Given the description of an element on the screen output the (x, y) to click on. 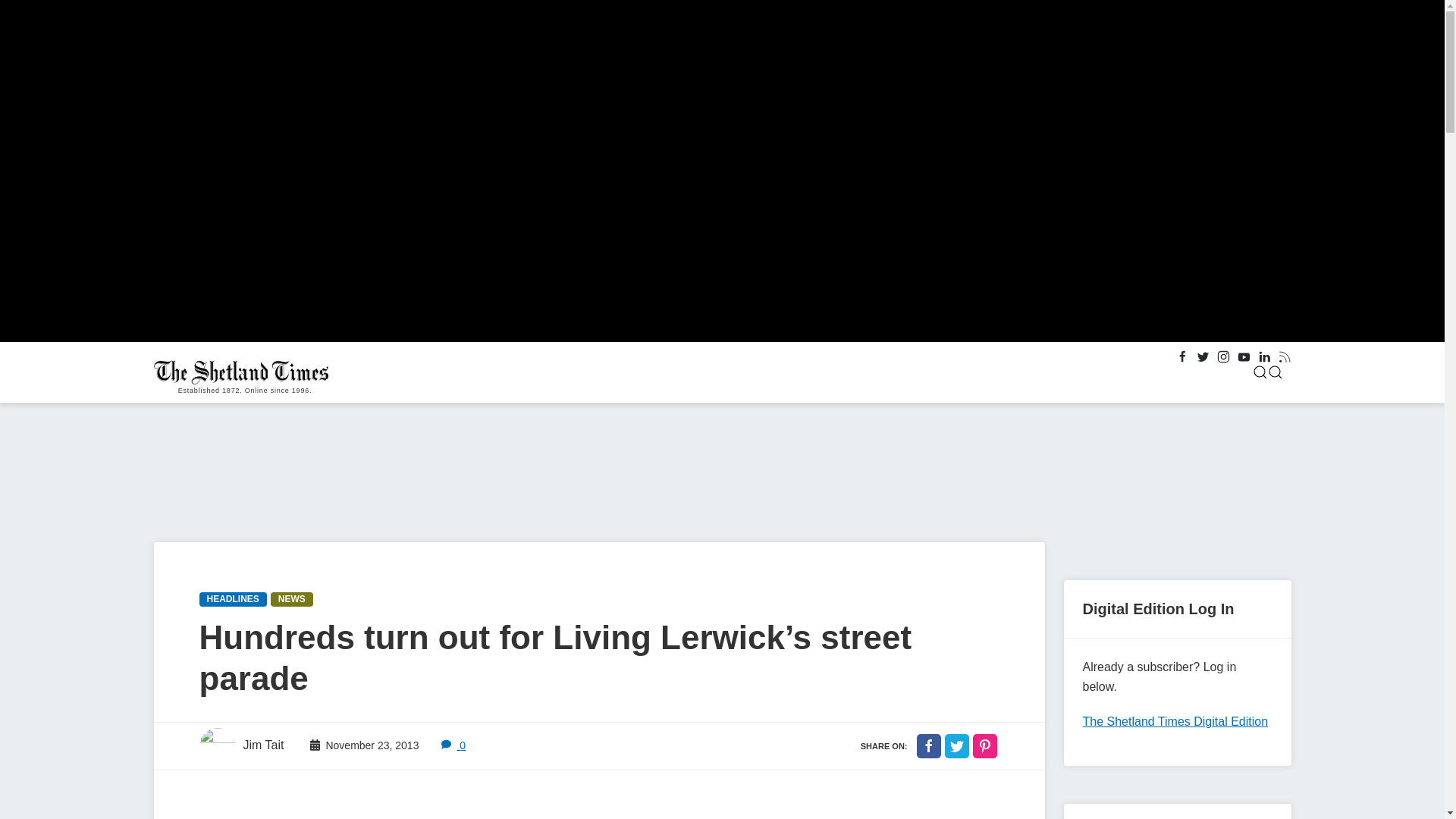
0 (453, 745)
Established 1872. Online since 1996. (244, 372)
NEWS (291, 599)
Jim Tait (240, 746)
HEADLINES (232, 599)
